Given the description of an element on the screen output the (x, y) to click on. 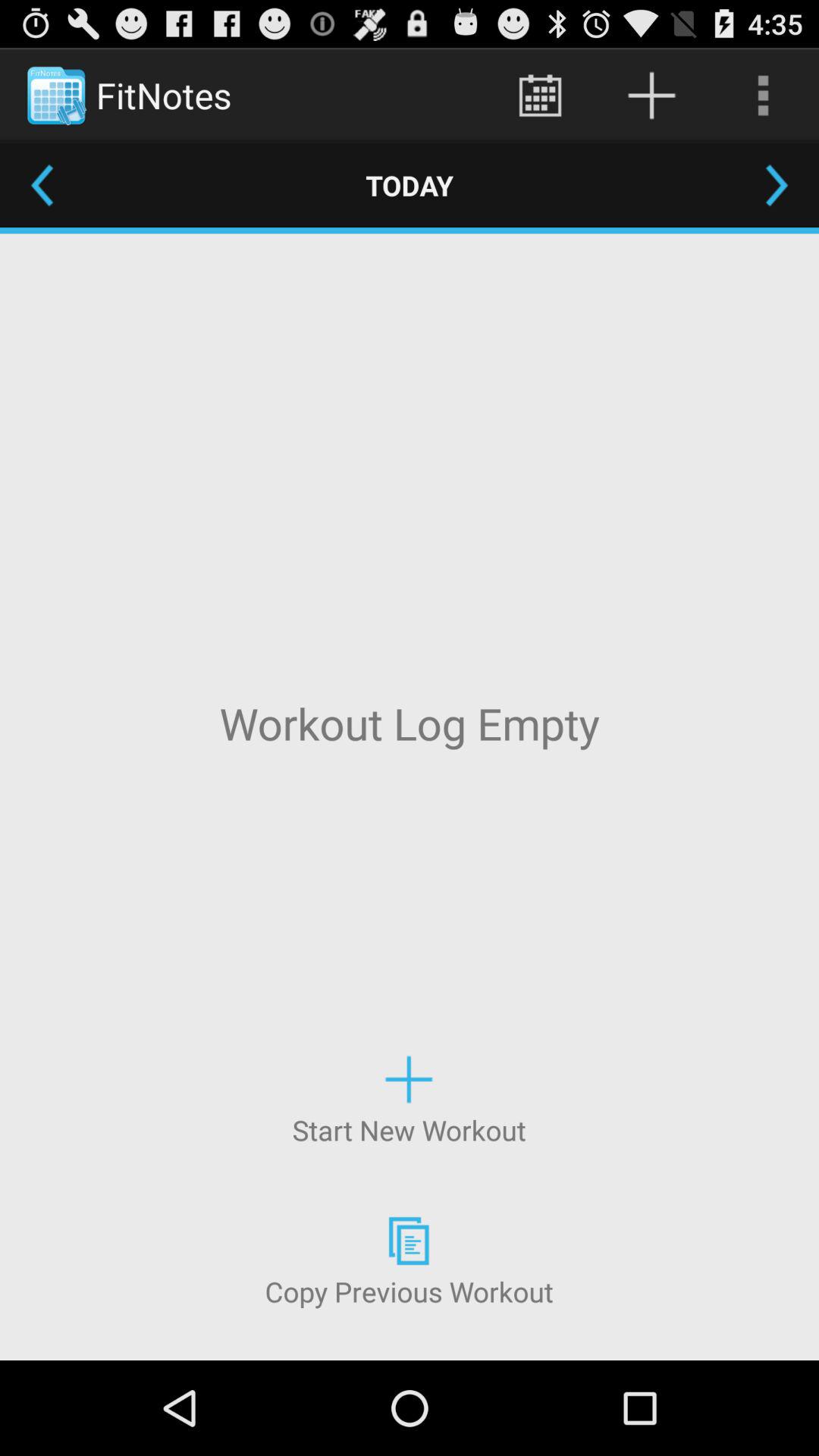
turn on app next to today (42, 185)
